Given the description of an element on the screen output the (x, y) to click on. 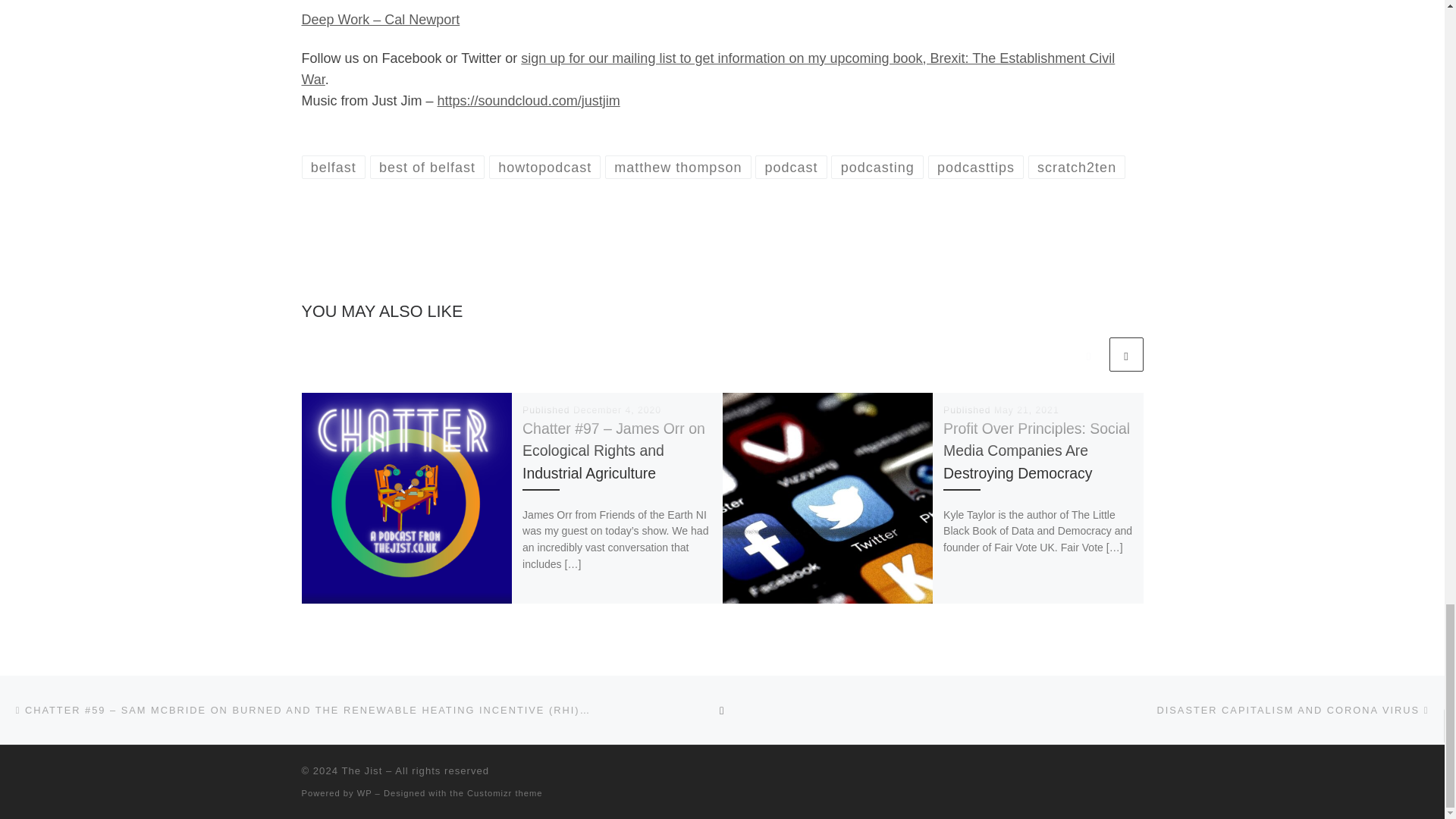
View all posts in matthew thompson (678, 167)
View all posts in belfast (333, 167)
View all posts in podcast (791, 167)
View all posts in best of belfast (426, 167)
View all posts in howtopodcast (545, 167)
View all posts in podcasting (877, 167)
